Given the description of an element on the screen output the (x, y) to click on. 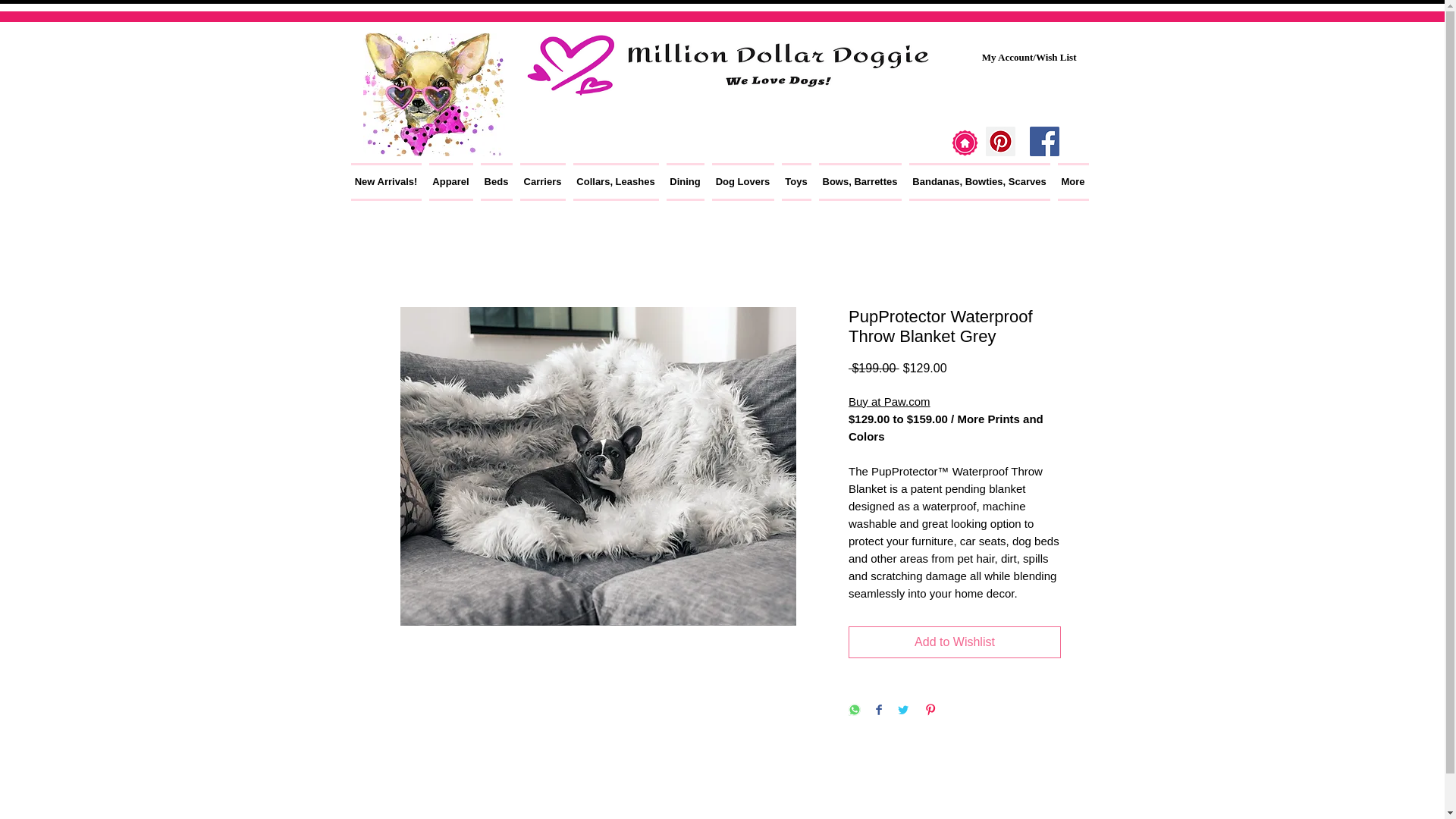
New Arrivals! (387, 181)
We Love Dogs!! (432, 94)
